Given the description of an element on the screen output the (x, y) to click on. 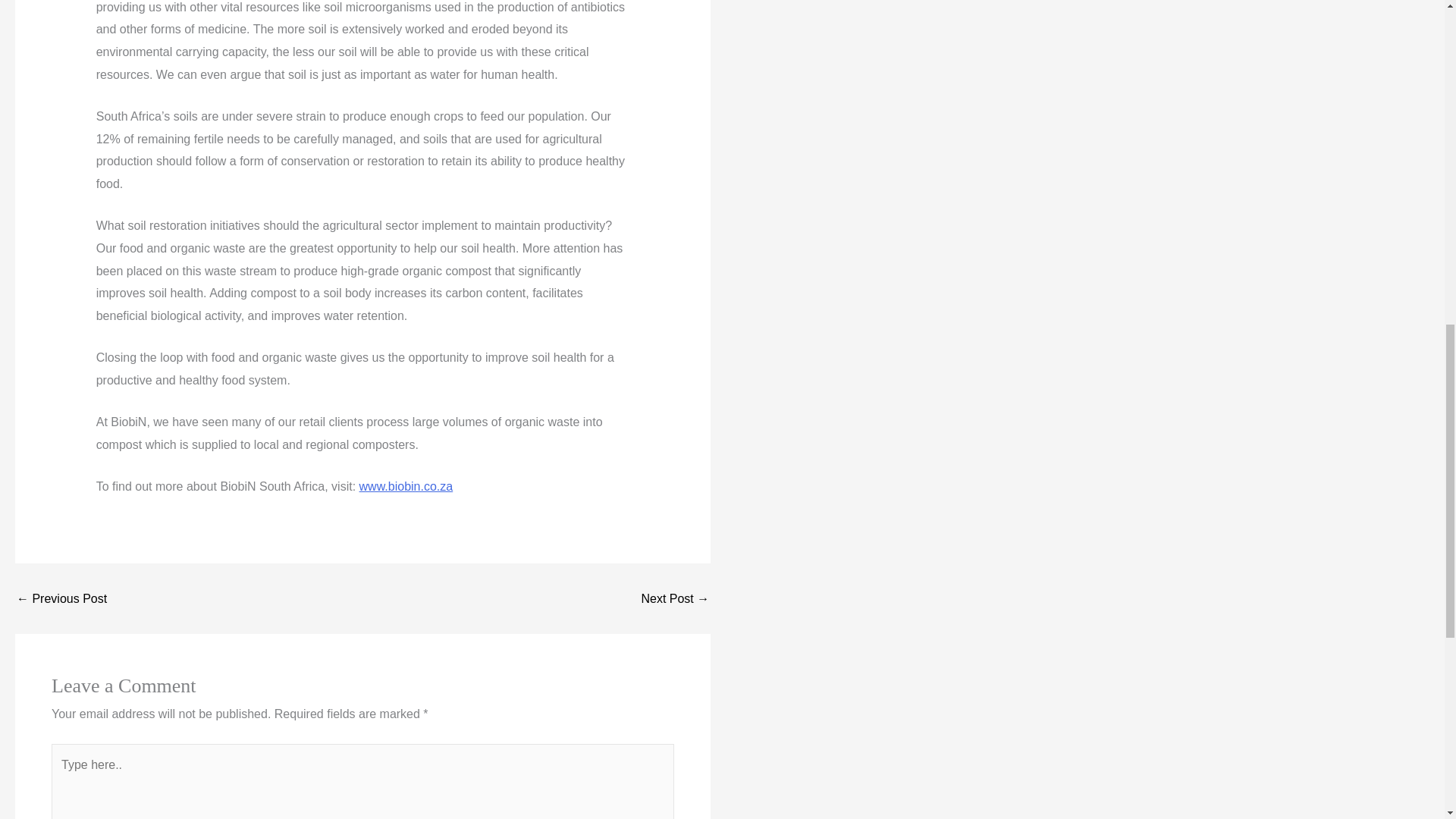
Looking at organic waste market growth indicators (674, 598)
www.biobin.co.za (405, 486)
